Given the description of an element on the screen output the (x, y) to click on. 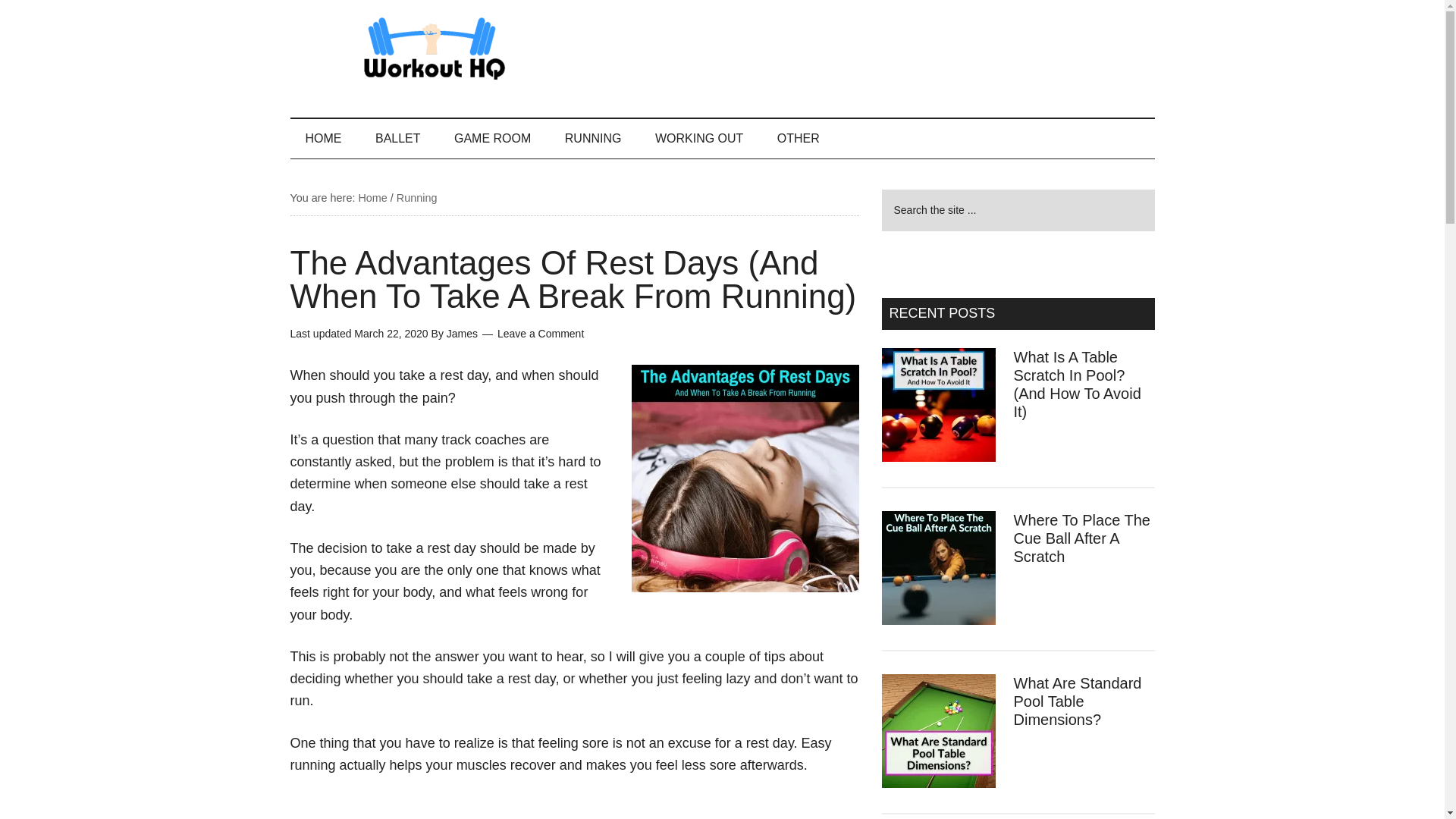
OTHER (797, 138)
Leave a Comment (540, 333)
GAME ROOM (492, 138)
Home (372, 197)
Running (417, 197)
BALLET (397, 138)
RUNNING (593, 138)
Workout HQ (433, 49)
HOME (322, 138)
James (461, 333)
WORKING OUT (699, 138)
